Given the description of an element on the screen output the (x, y) to click on. 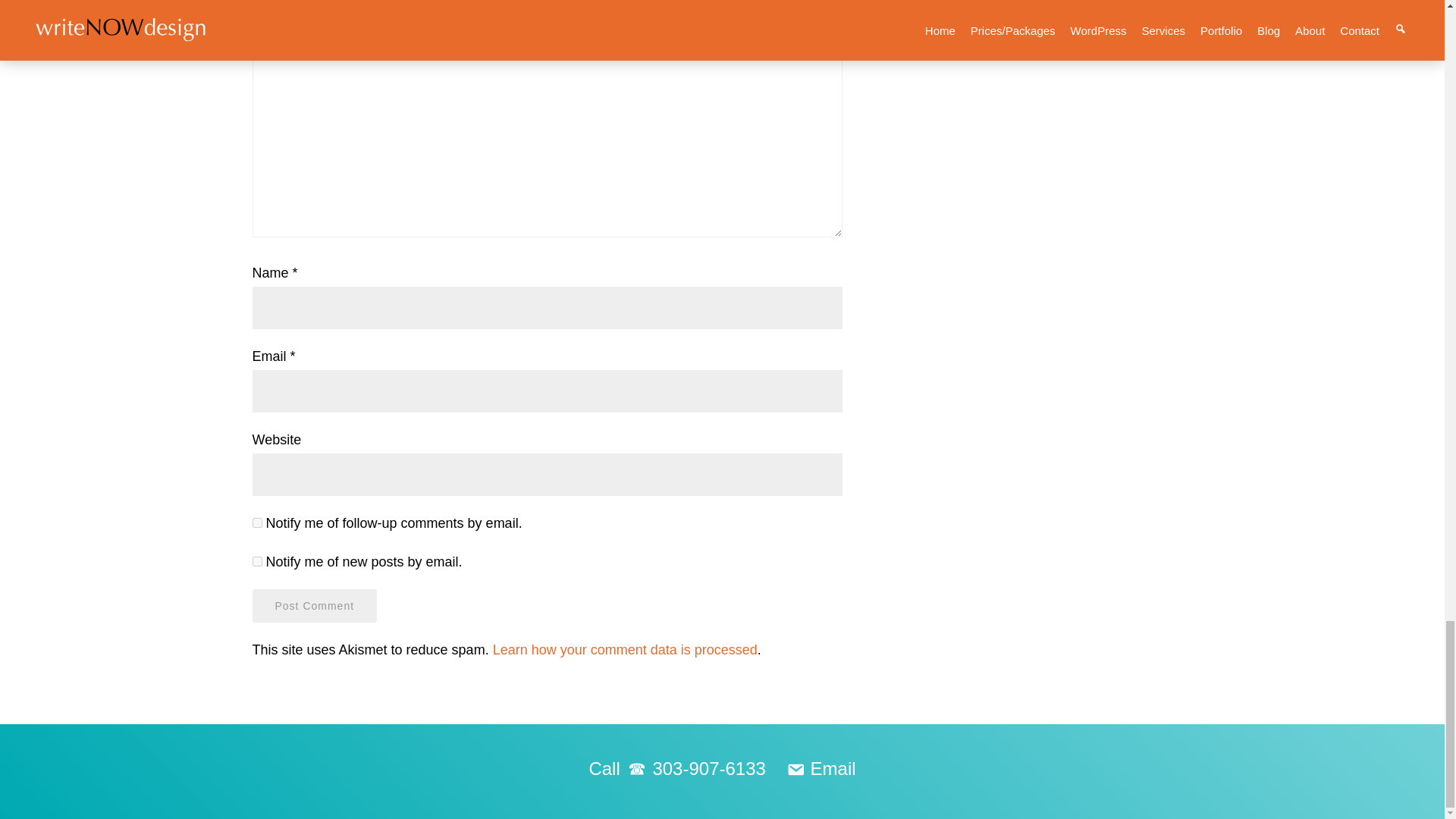
subscribe (256, 522)
Post Comment (314, 605)
subscribe (256, 561)
Post Comment (314, 605)
Learn how your comment data is processed (625, 649)
